Given the description of an element on the screen output the (x, y) to click on. 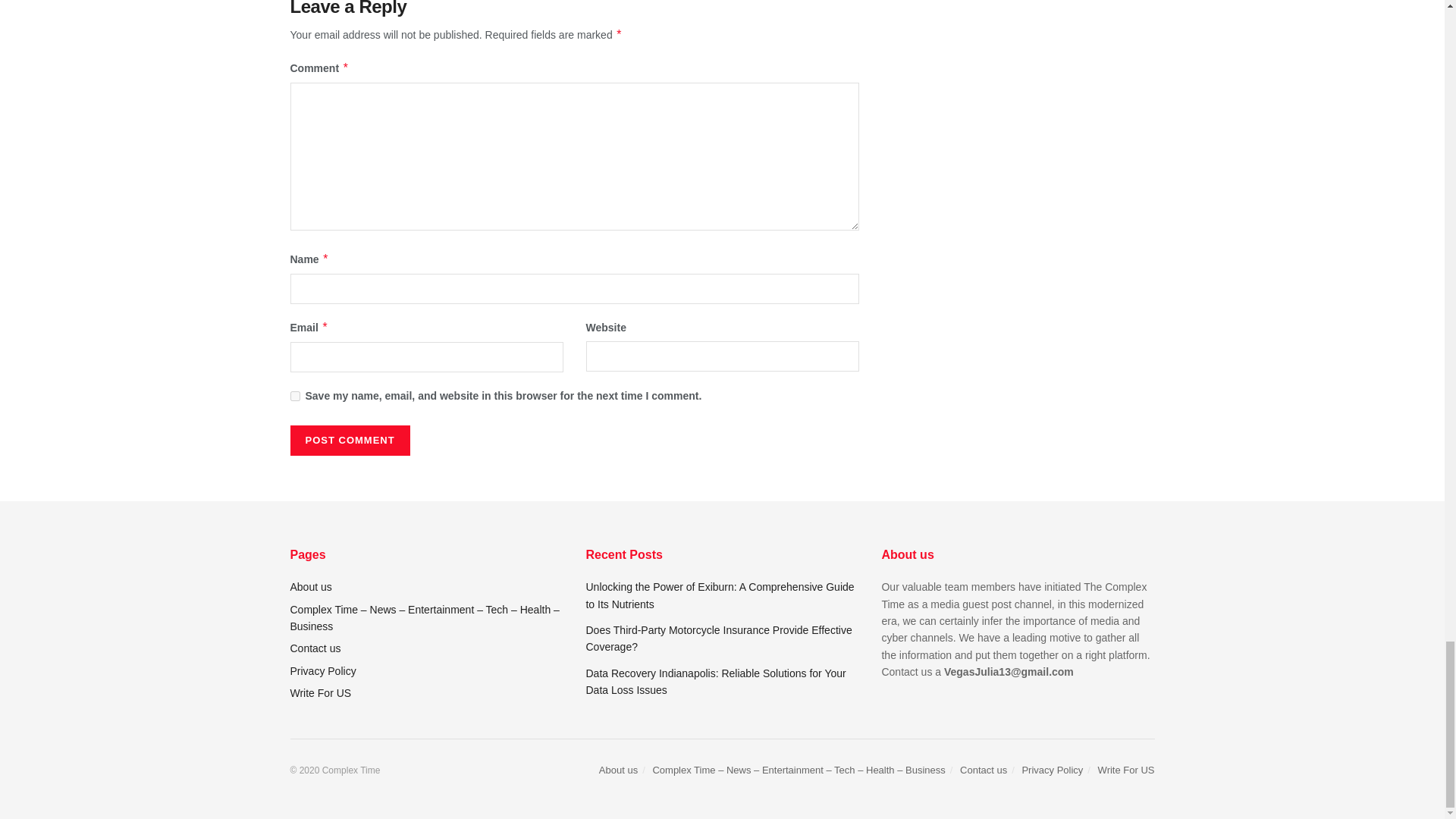
Post Comment (349, 440)
yes (294, 396)
